Given the description of an element on the screen output the (x, y) to click on. 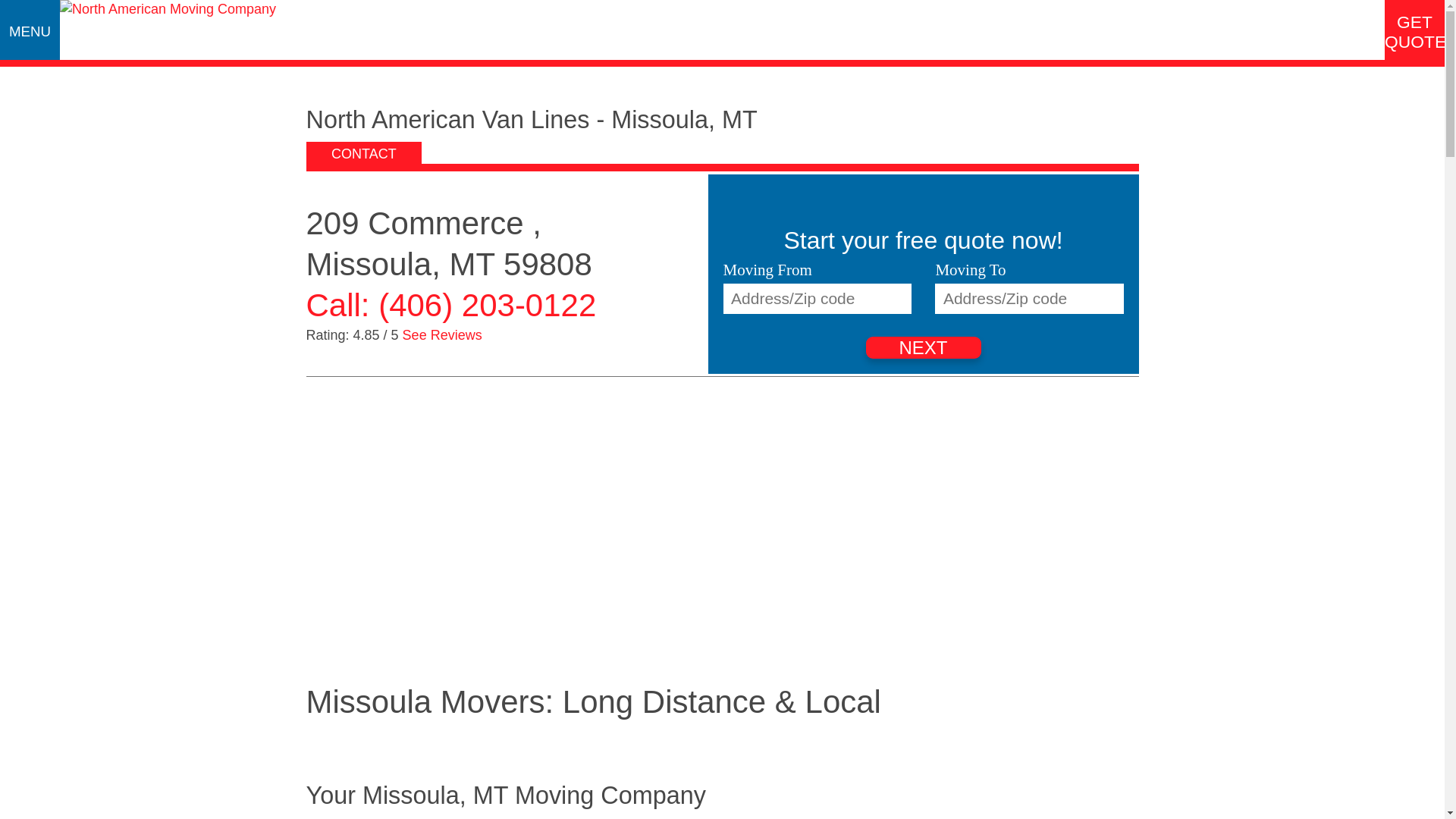
CONTACT (363, 154)
North American Moving Company (167, 8)
Call North American Van Lines - Missoula, MT (450, 304)
See Reviews (442, 335)
View North American Van Lines - Missoula, MT's reviews (442, 335)
NEXT (923, 347)
North American Moving Company (167, 9)
